Given the description of an element on the screen output the (x, y) to click on. 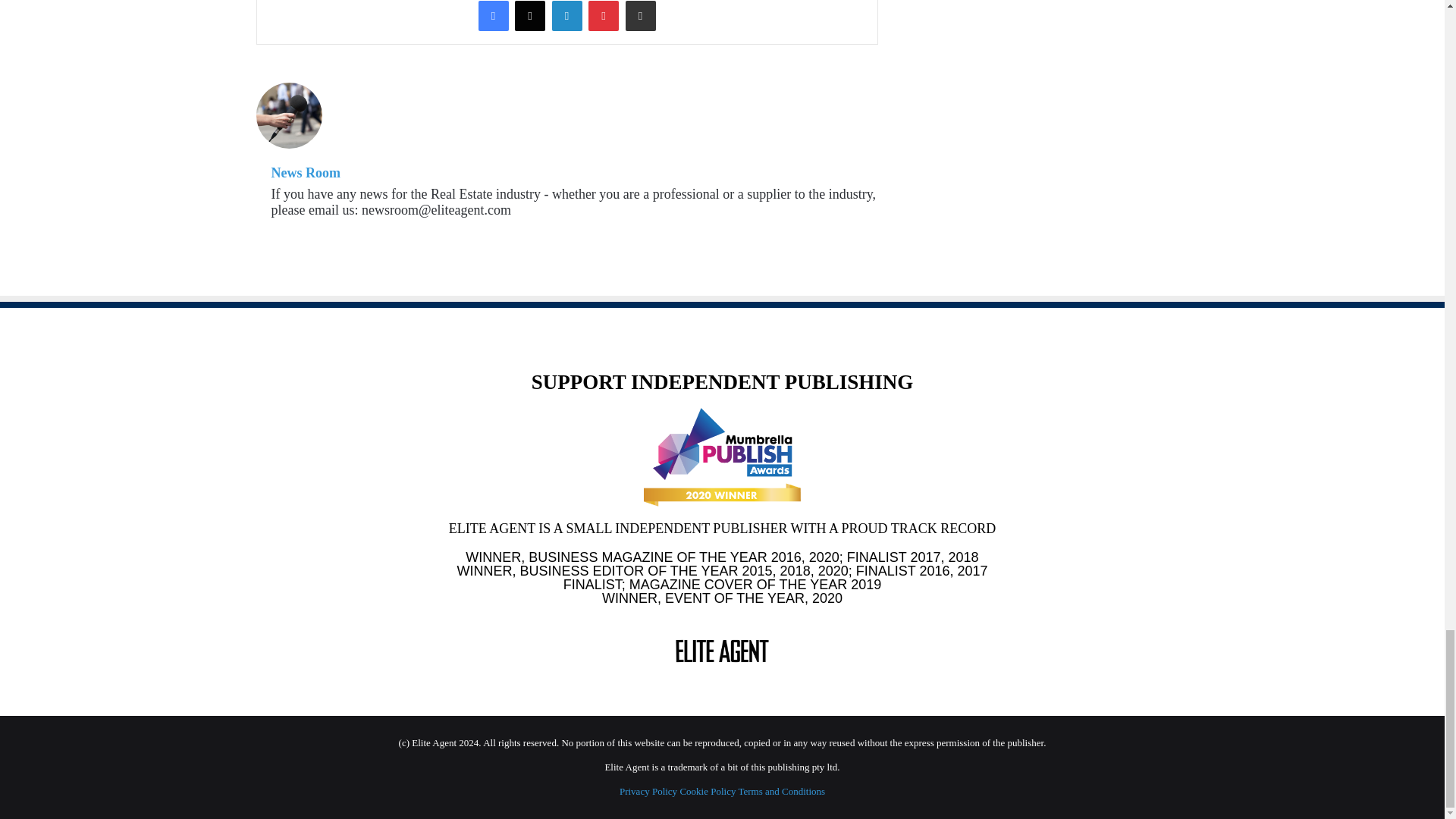
Facebook (492, 15)
